Given the description of an element on the screen output the (x, y) to click on. 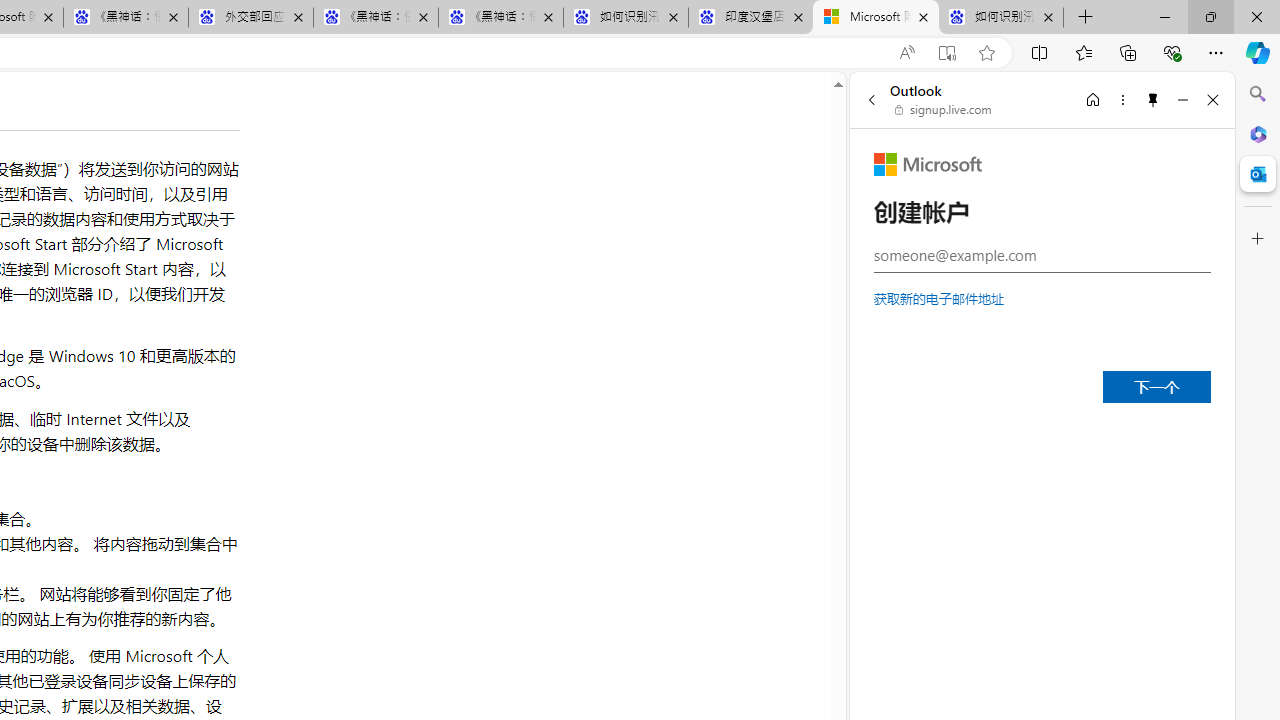
Split screen (1039, 52)
More options (1122, 99)
Favorites (1083, 52)
Search (1258, 94)
